Given the description of an element on the screen output the (x, y) to click on. 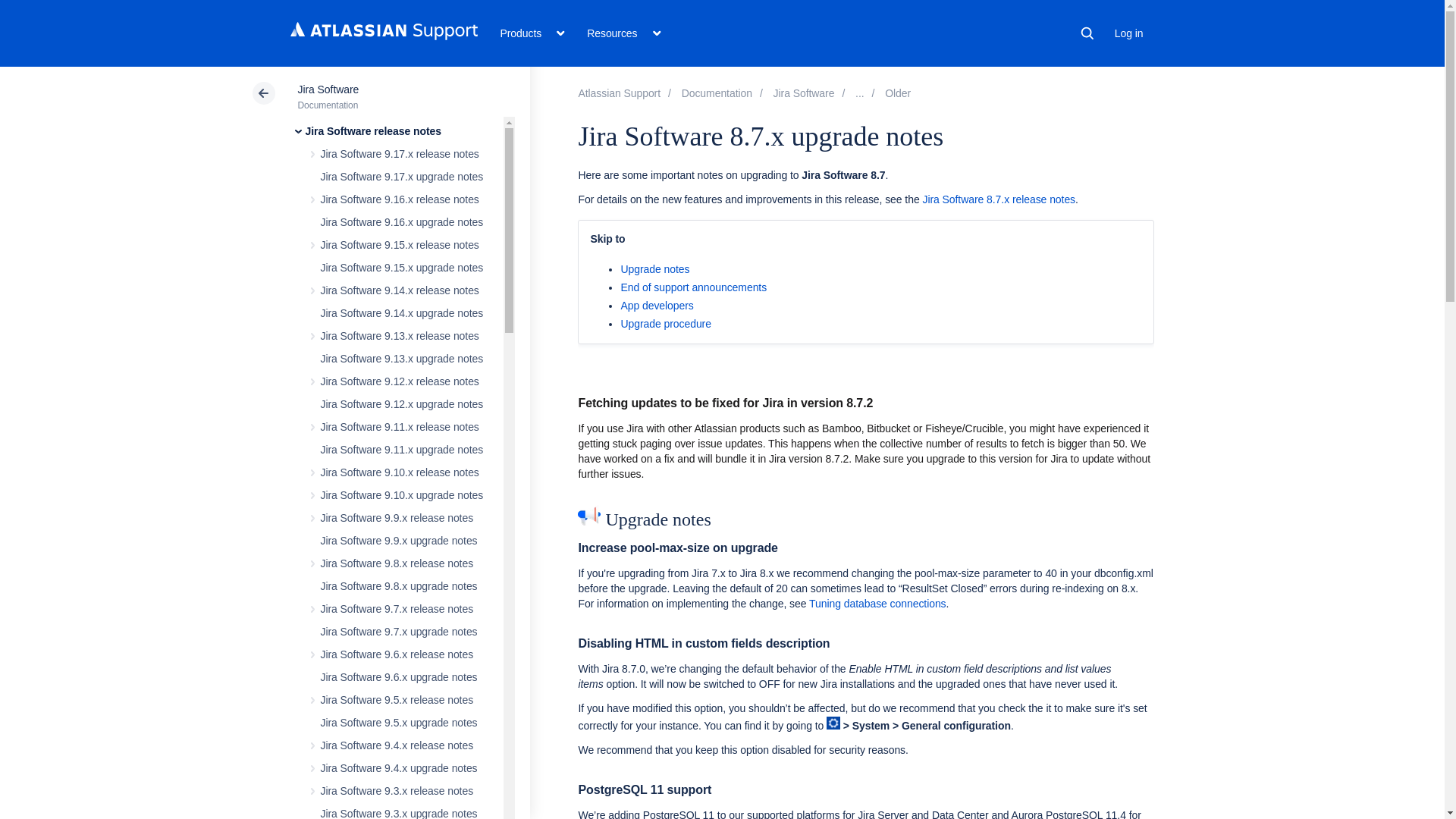
Documentation (716, 92)
Atlassian Support (619, 92)
Older (898, 92)
Jira Software (803, 92)
Search (1087, 33)
Jira Software (327, 89)
Log in (1128, 33)
